Given the description of an element on the screen output the (x, y) to click on. 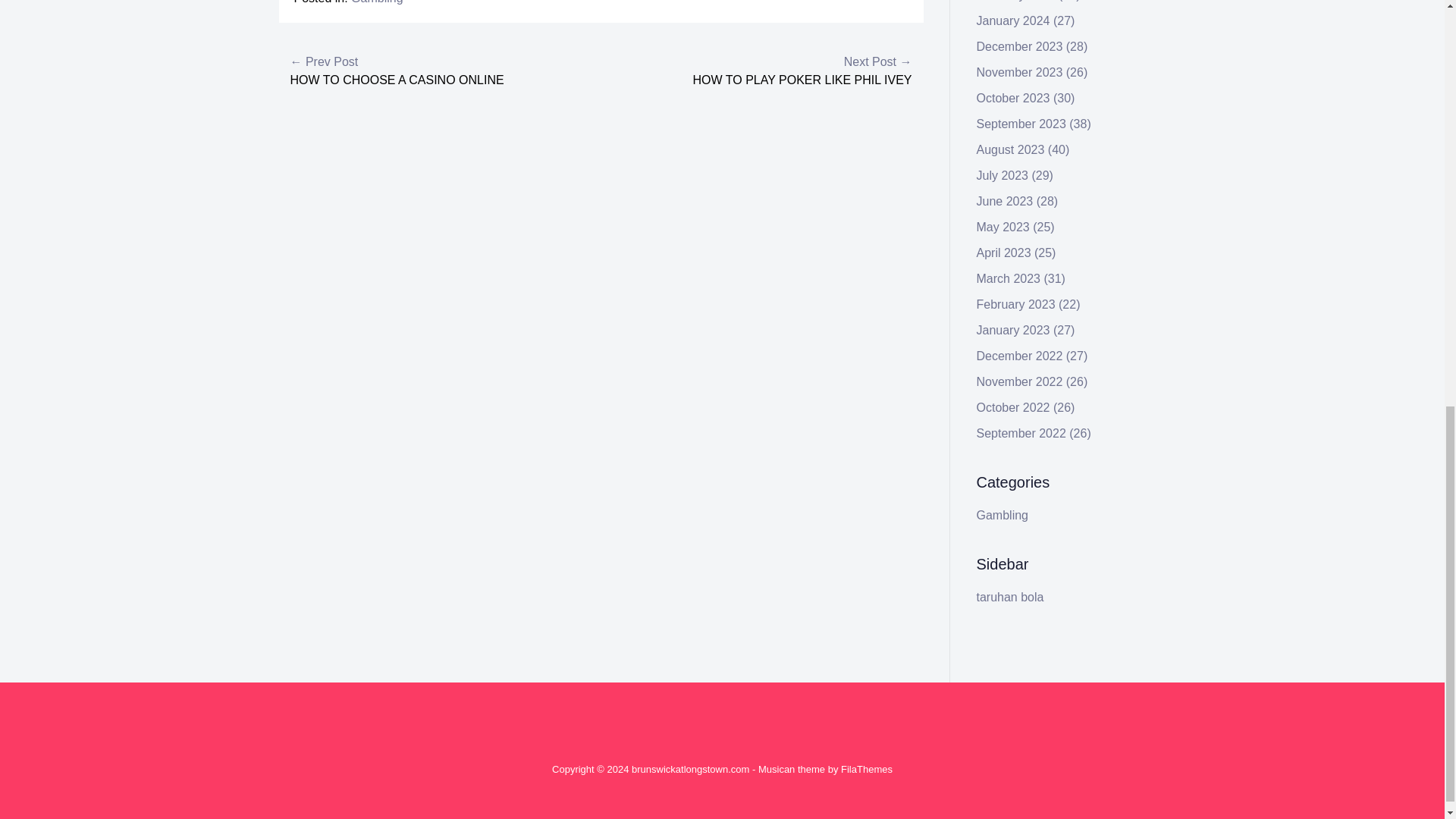
December 2023 (1019, 46)
April 2023 (1003, 252)
March 2023 (1008, 278)
February 2023 (1015, 304)
January 2024 (1012, 20)
September 2023 (1020, 123)
November 2023 (1019, 72)
December 2022 (1019, 355)
brunswickatlongstown.com (690, 768)
July 2023 (1002, 174)
